Given the description of an element on the screen output the (x, y) to click on. 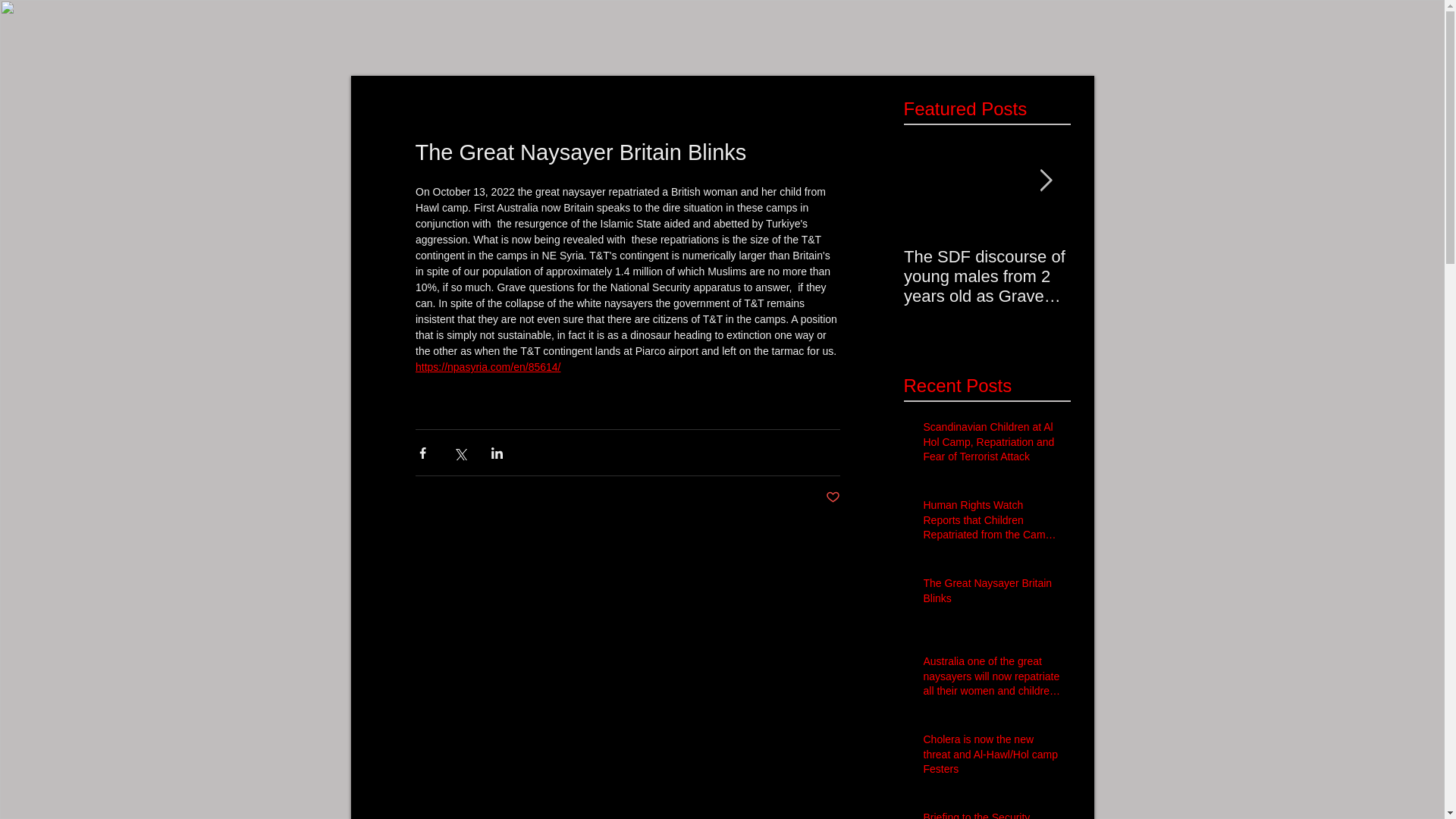
Post not marked as liked (832, 497)
The Great Naysayer Britain Blinks (992, 593)
